Given the description of an element on the screen output the (x, y) to click on. 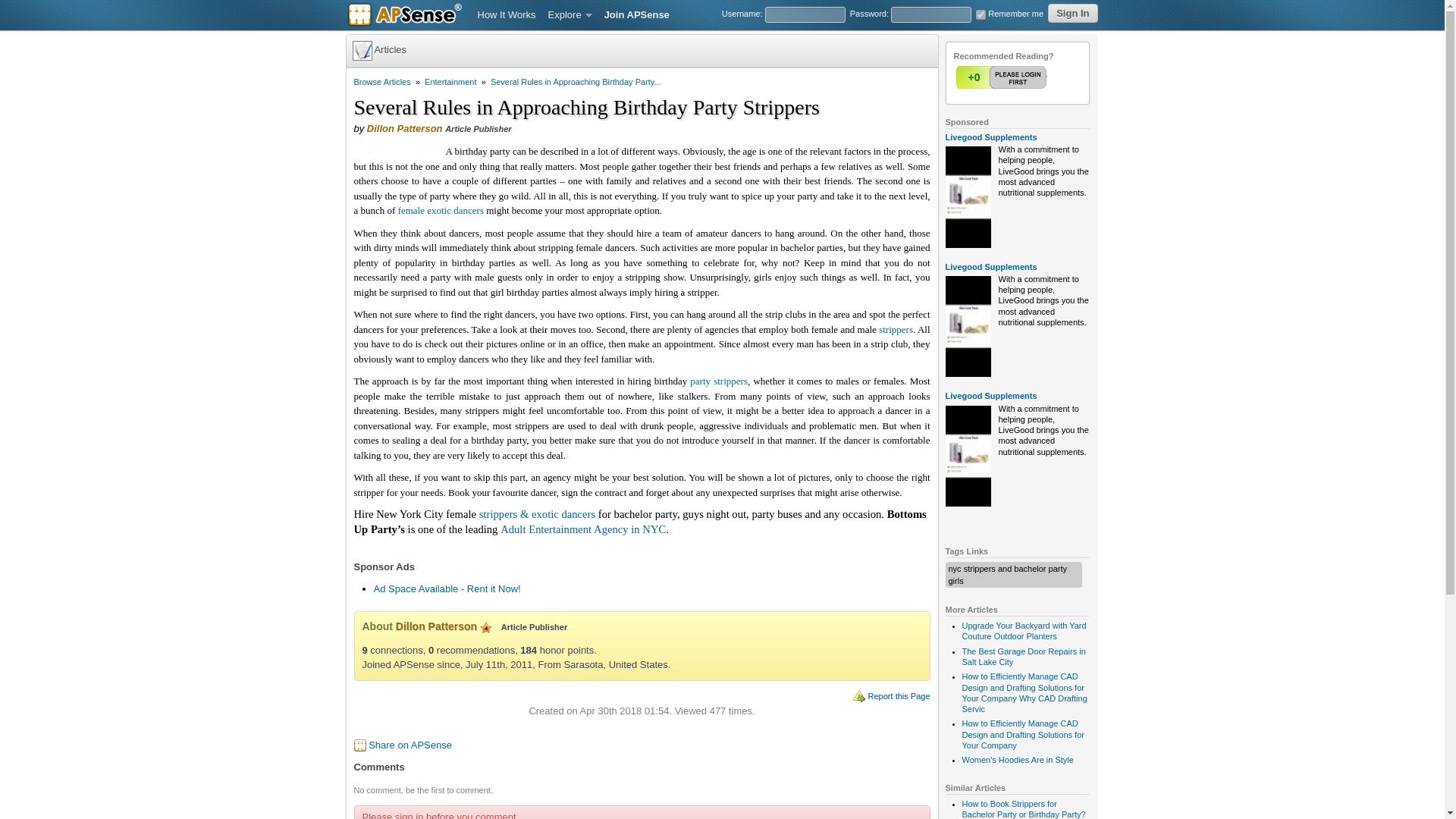
-1 (1031, 77)
Several Rules in Approaching Birthday Party... (575, 81)
1 (1002, 77)
How to Book Strippers for Bachelor Party or Birthday Party? (1022, 809)
Vote Down (1031, 77)
Entertainment (450, 81)
Vote Up (1002, 77)
Browse Articles (381, 81)
1 (1002, 77)
strippers (895, 328)
